Given the description of an element on the screen output the (x, y) to click on. 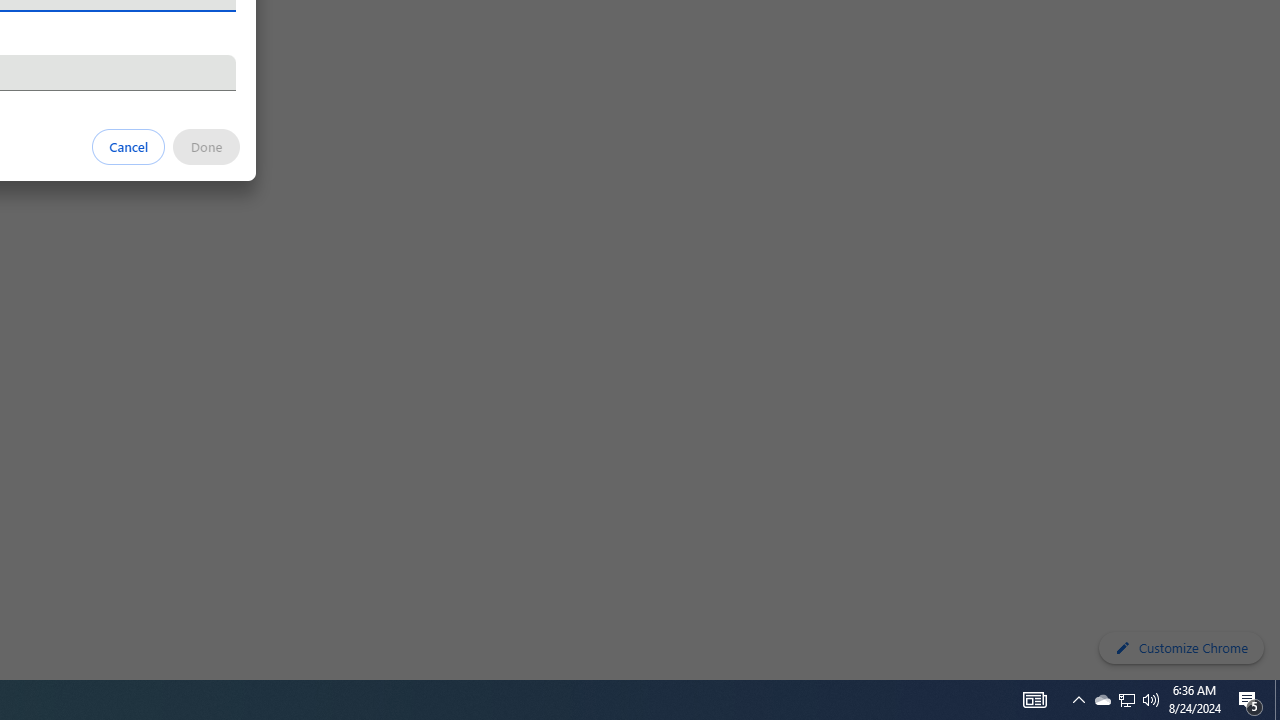
Cancel (129, 146)
Done (206, 146)
